Given the description of an element on the screen output the (x, y) to click on. 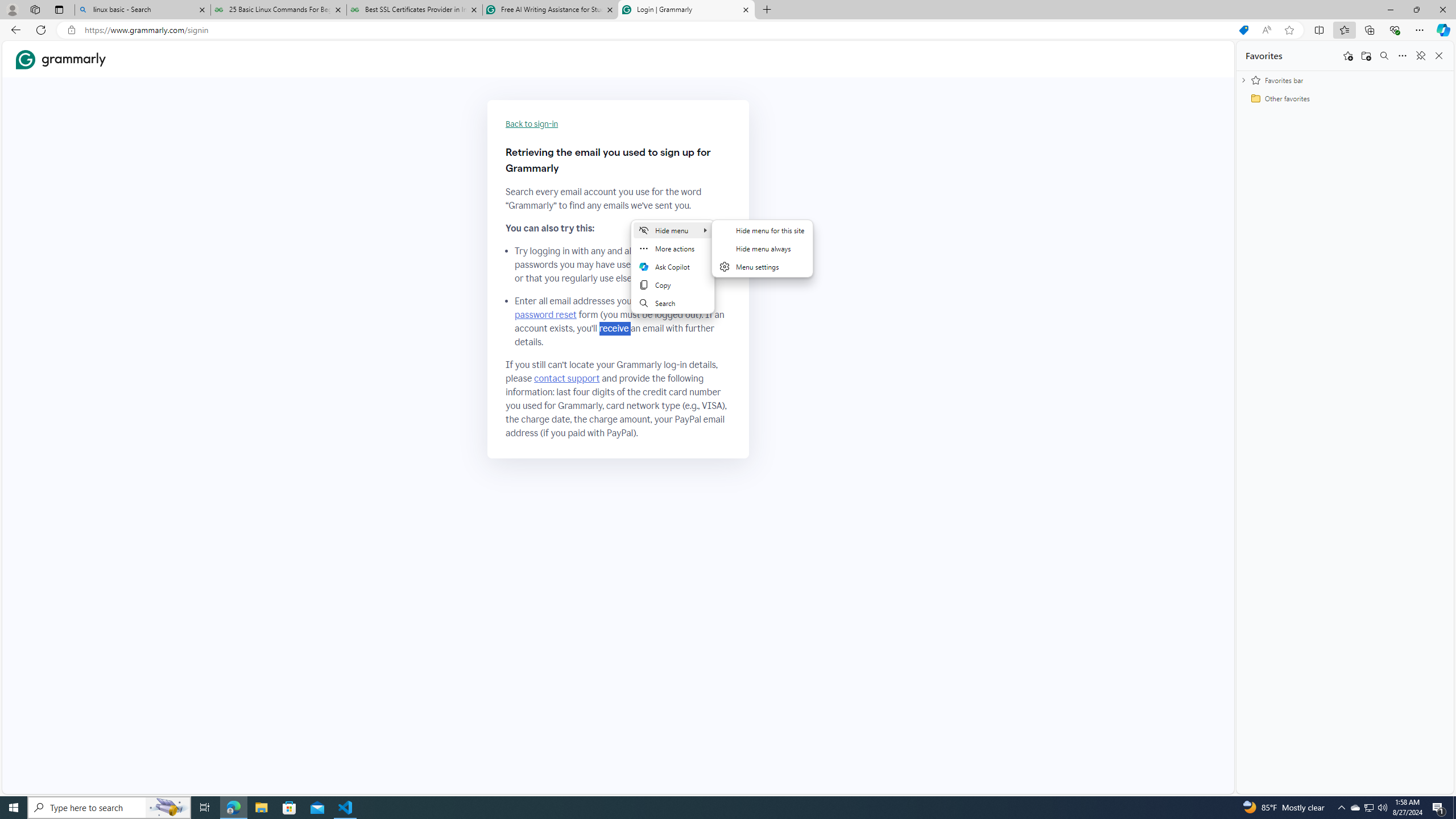
Search favorites (1383, 55)
linux basic - Search (142, 9)
Add folder (1366, 55)
password reset (545, 314)
Login | Grammarly (685, 9)
25 Basic Linux Commands For Beginners - GeeksforGeeks (277, 9)
Copy (672, 285)
Hide menu for this site (761, 230)
